Given the description of an element on the screen output the (x, y) to click on. 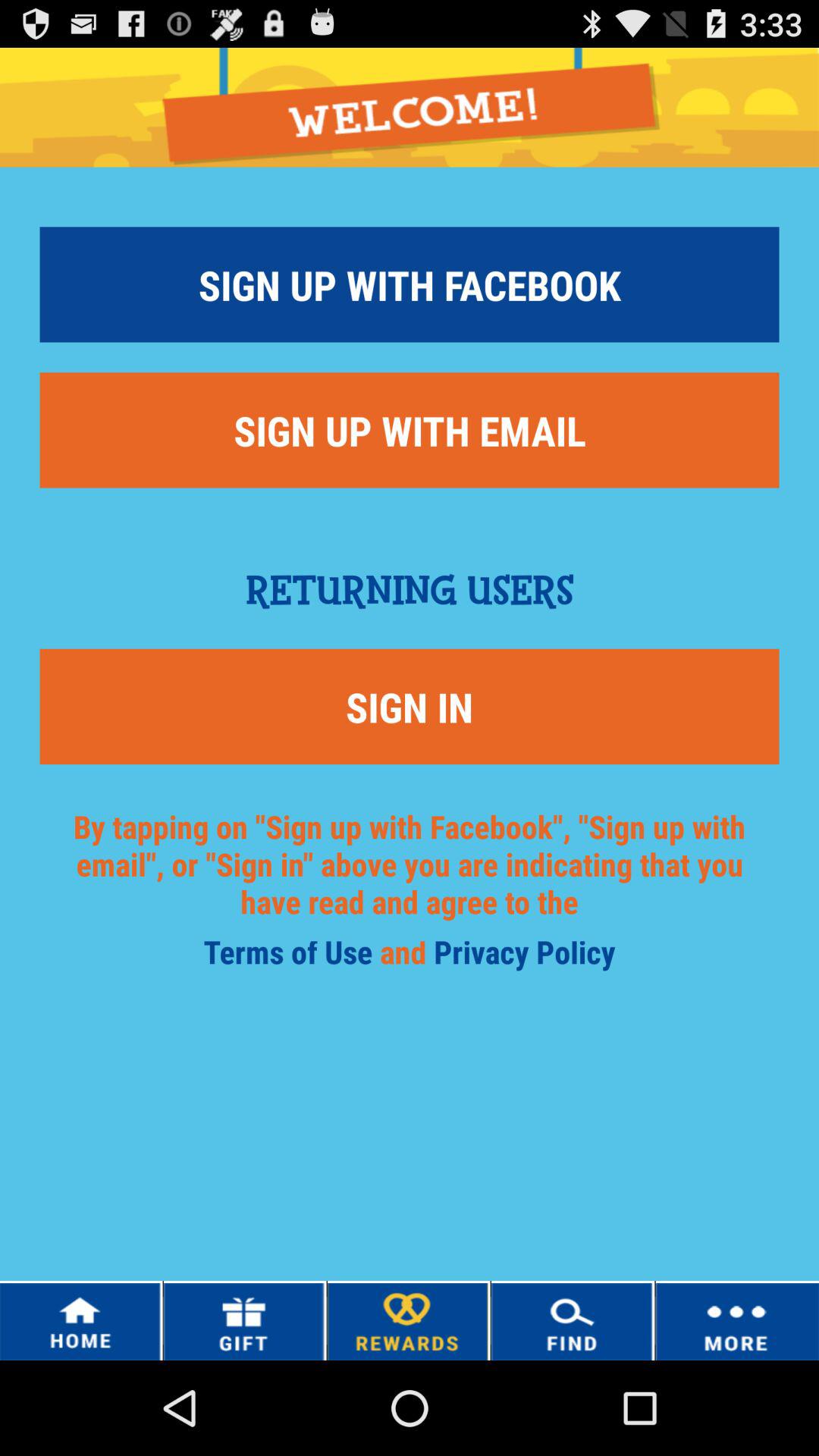
open the item below sign in (524, 957)
